Given the description of an element on the screen output the (x, y) to click on. 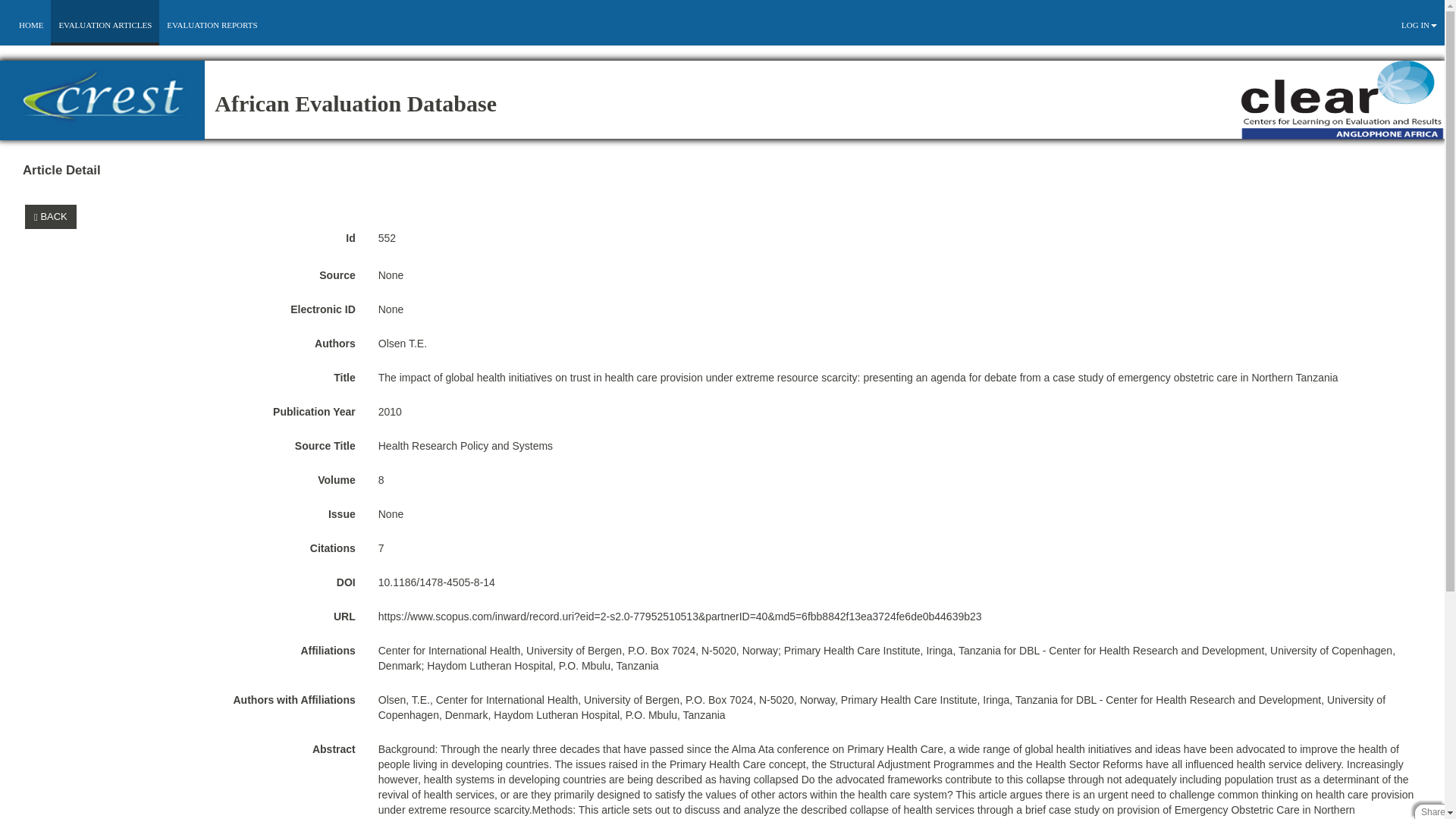
EVALUATION REPORTS (211, 24)
EVALUATION ARTICLES (104, 24)
BACK (50, 216)
Back (53, 215)
